Given the description of an element on the screen output the (x, y) to click on. 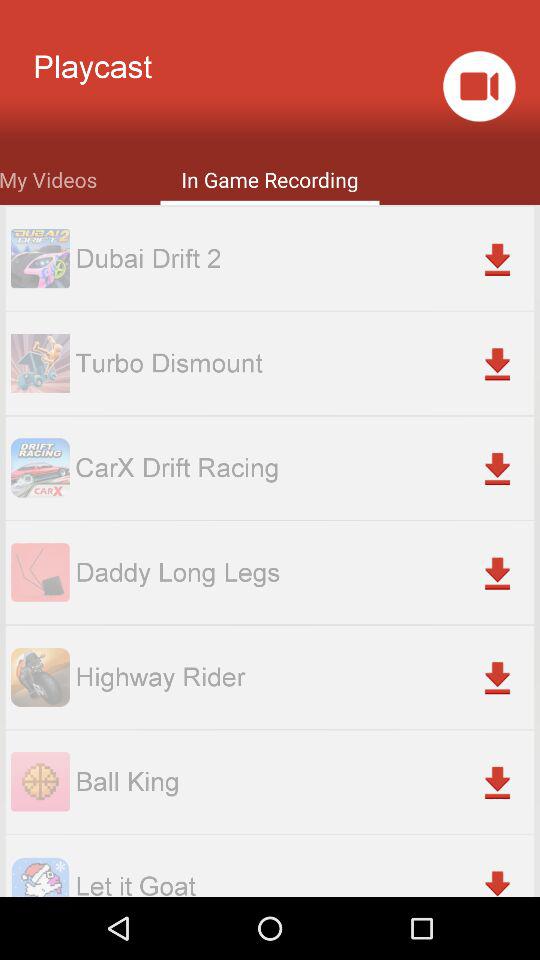
choose the let it goat (304, 882)
